Given the description of an element on the screen output the (x, y) to click on. 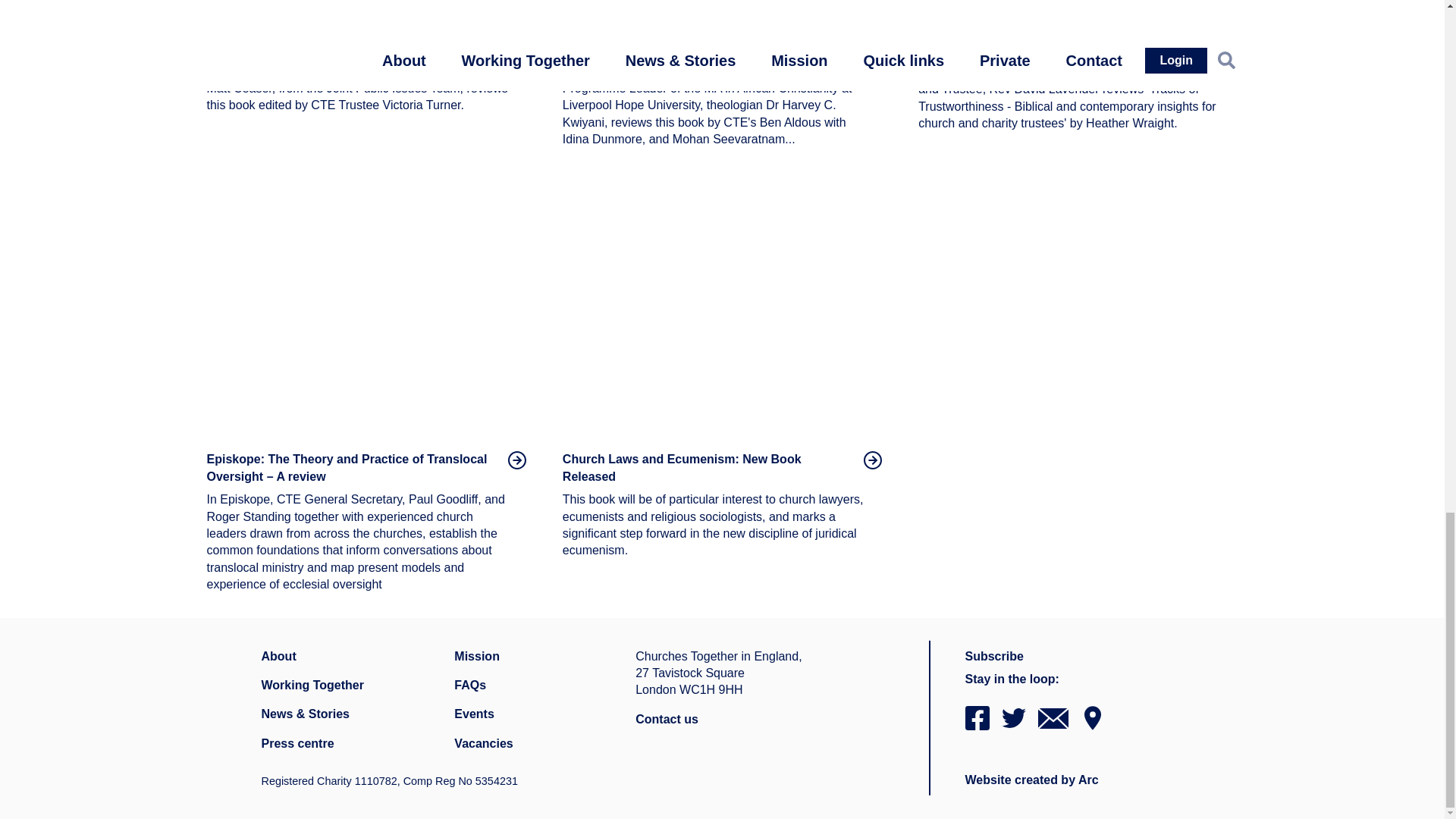
Contact CTE (666, 719)
